Given the description of an element on the screen output the (x, y) to click on. 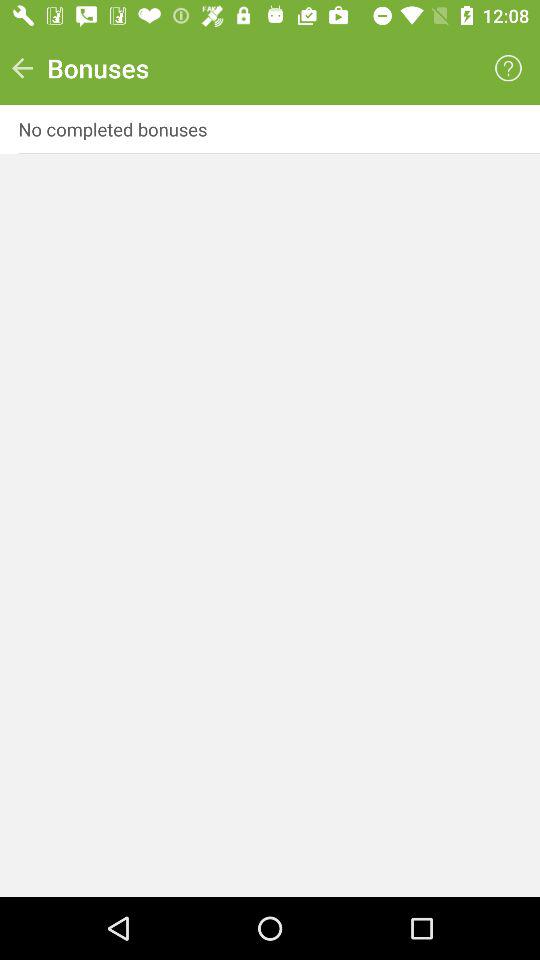
click icon at the top right corner (508, 67)
